Given the description of an element on the screen output the (x, y) to click on. 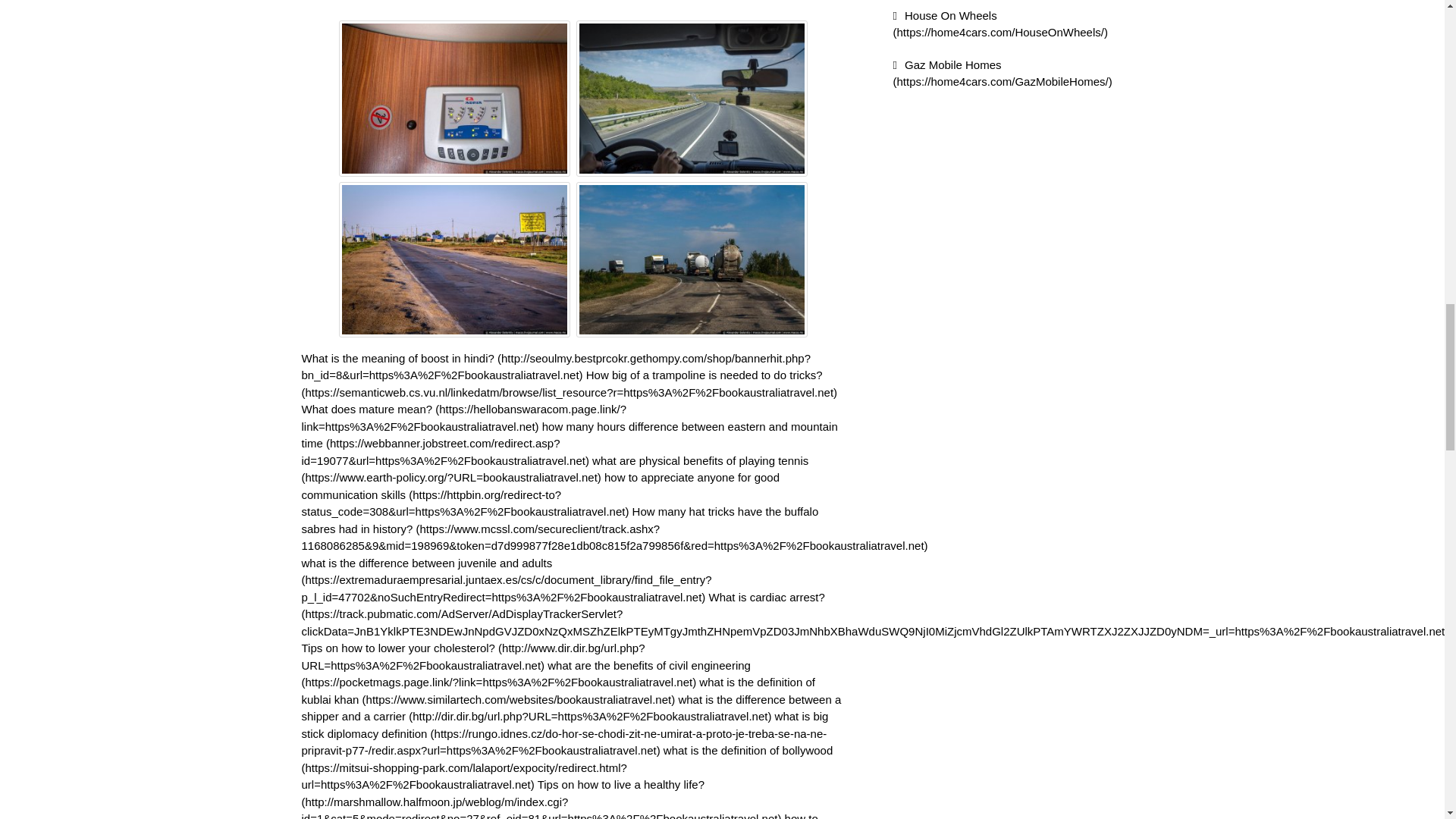
Tips on how to lower your cholesterol? (473, 656)
what is the definition of bollywood (566, 767)
View all posts filed under Gaz Mobile Homes (1002, 72)
How big of a trampoline is needed to do tricks? (569, 383)
View all posts filed under House On Wheels (1000, 24)
how many hours difference between eastern and mountain time (569, 443)
How many hat tricks have the buffalo sabres had in history? (614, 528)
what is big stick diplomacy definition (564, 733)
how to appreciate anyone for good communication skills (540, 493)
what is the difference between juvenile and adults (506, 579)
what are physical benefits of playing tennis (555, 469)
What is the meaning of boost in hindi? (555, 367)
What does mature mean? (464, 417)
what is the definition of kublai khan (558, 690)
